Given the description of an element on the screen output the (x, y) to click on. 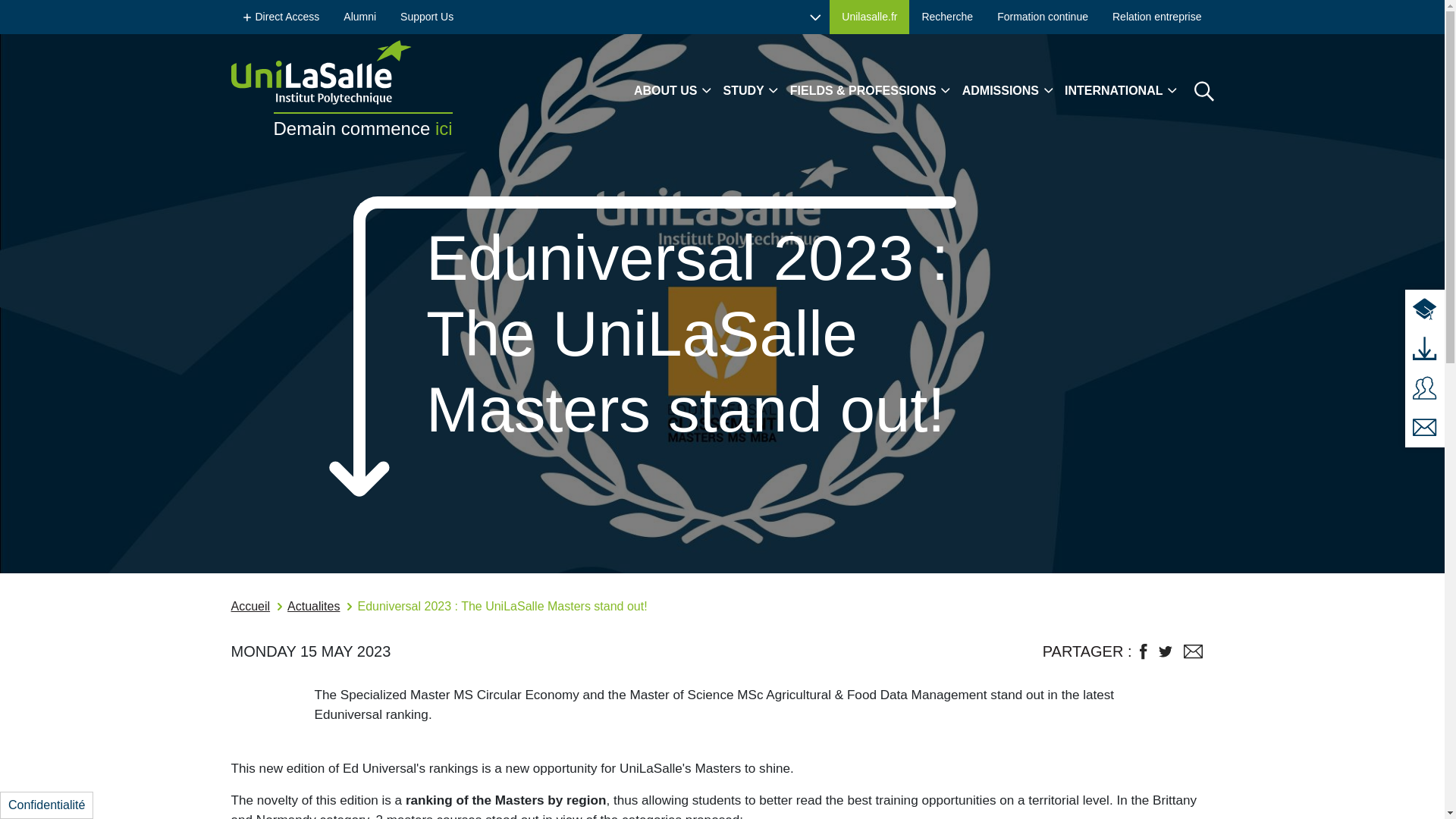
Unilasalle.fr (868, 17)
Skip to main content (60, 10)
Formation continue (1042, 17)
Recherche (946, 17)
Relation entreprise (1157, 17)
Twitter (1165, 651)
Email (1192, 651)
Home (340, 72)
Support Us (426, 17)
